Given the description of an element on the screen output the (x, y) to click on. 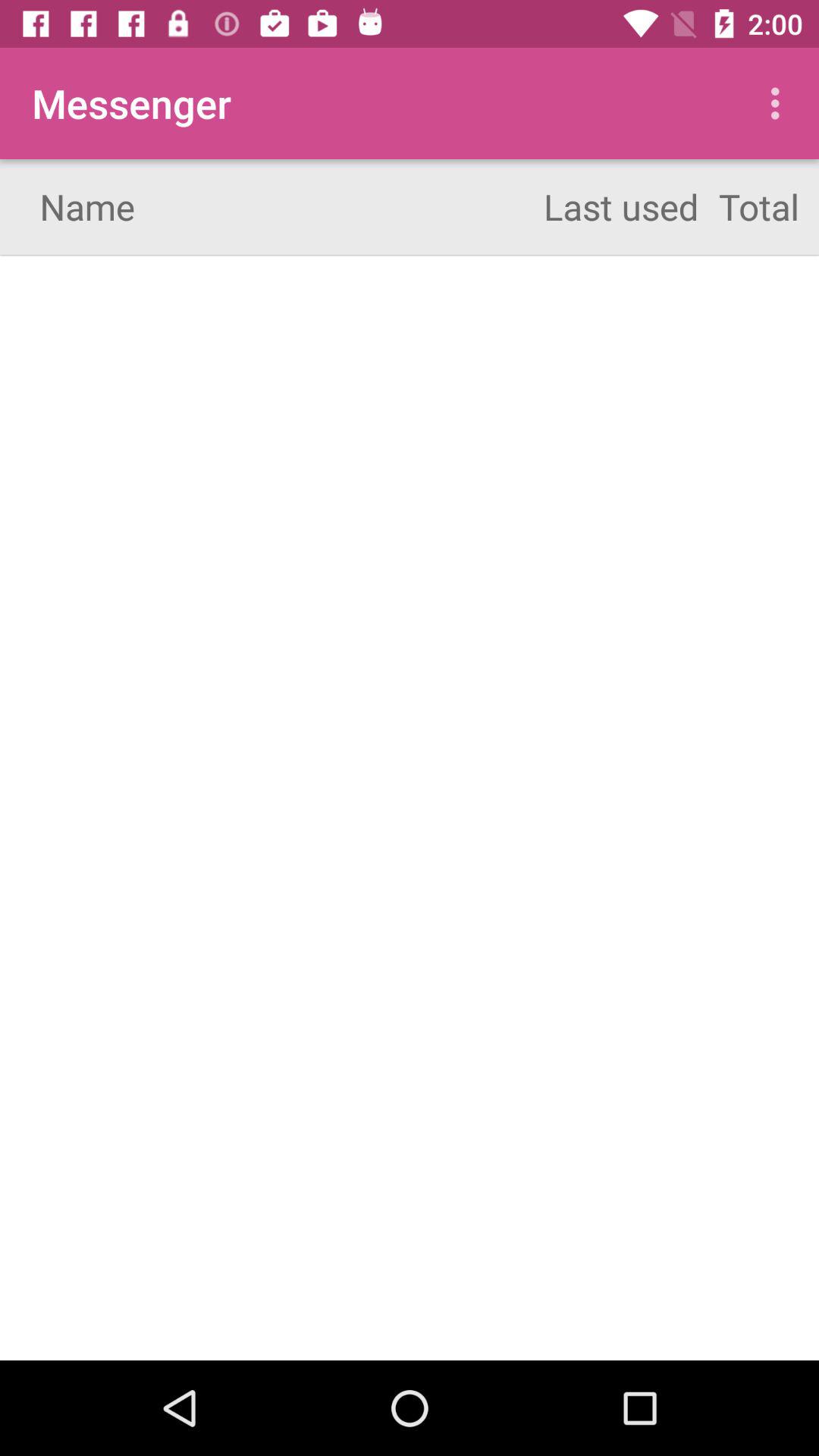
choose icon to the right of the last used (779, 103)
